Given the description of an element on the screen output the (x, y) to click on. 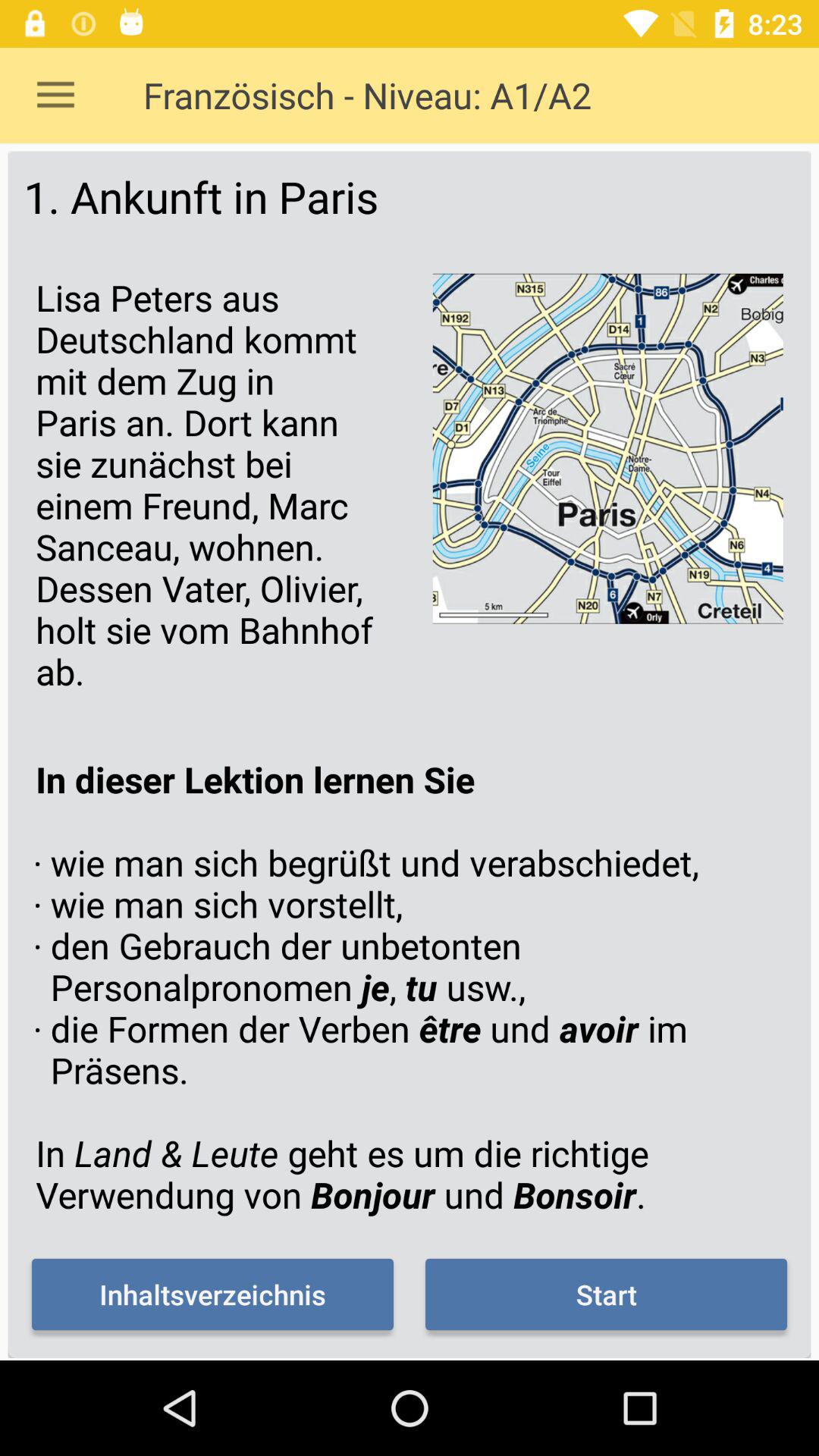
flip until in dieser lektion icon (409, 986)
